Given the description of an element on the screen output the (x, y) to click on. 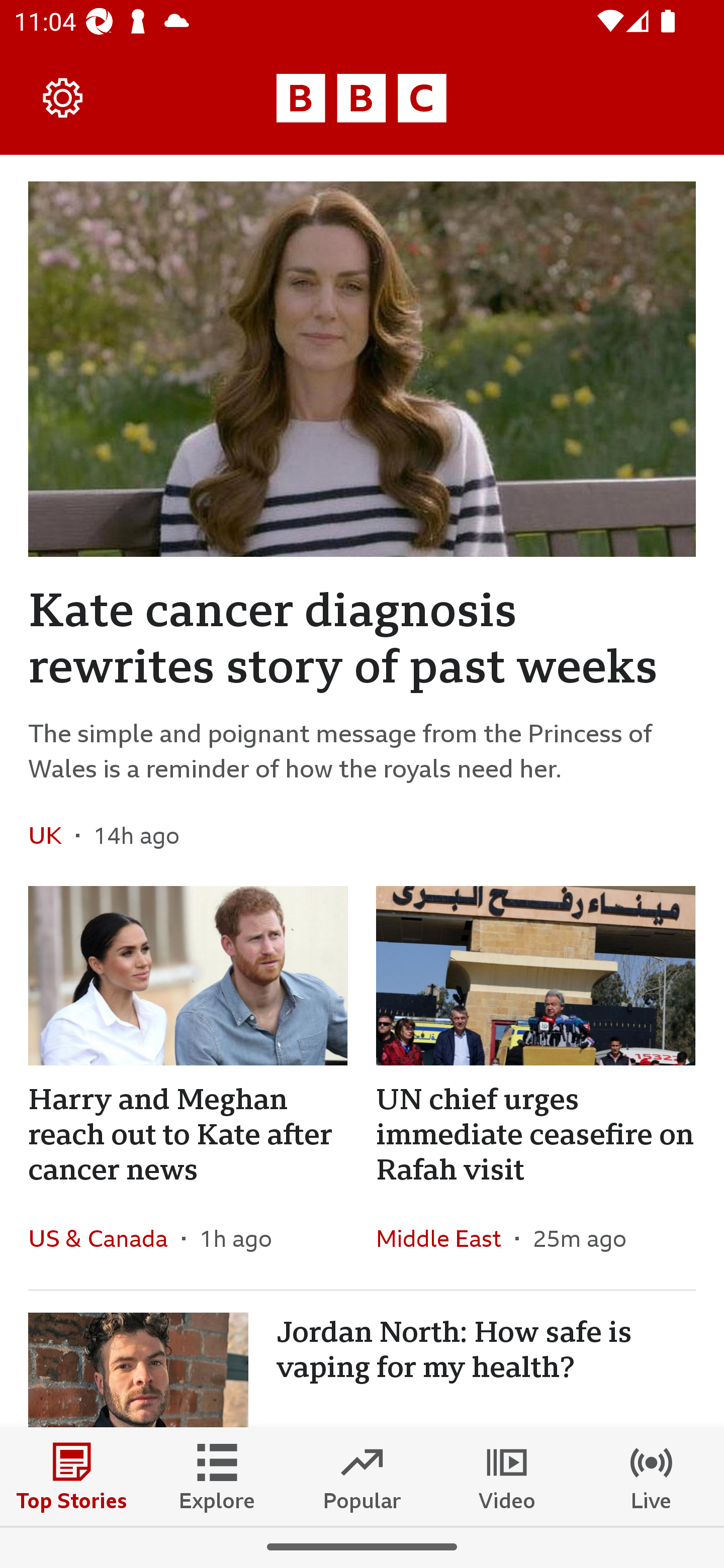
Settings (63, 97)
US & Canada In the section US & Canada (104, 1237)
Middle East In the section Middle East (445, 1237)
Explore (216, 1475)
Popular (361, 1475)
Video (506, 1475)
Live (651, 1475)
